Given the description of an element on the screen output the (x, y) to click on. 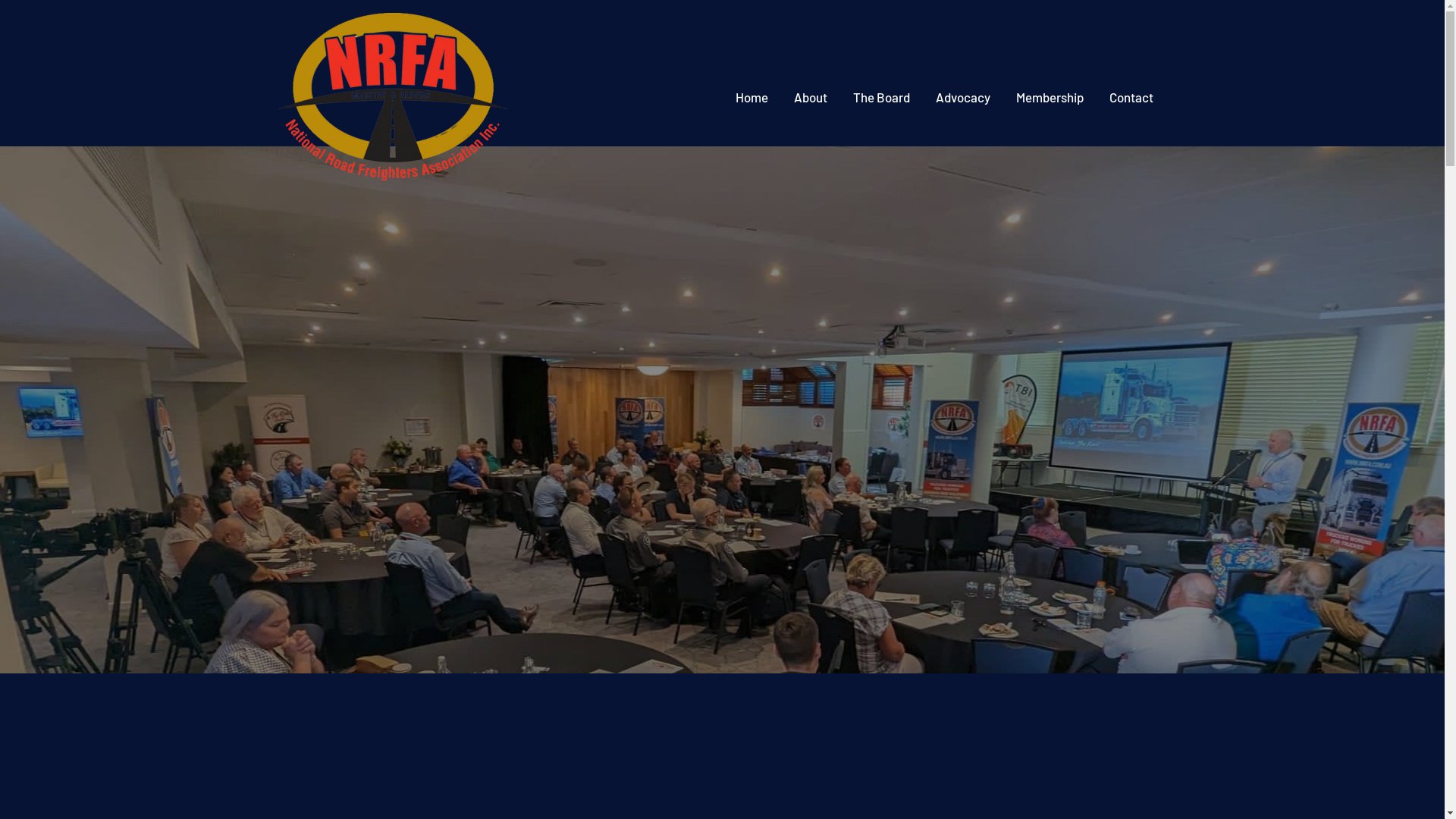
Advocacy Element type: text (962, 96)
Contact Element type: text (1131, 96)
The Board Element type: text (881, 96)
Home Element type: text (750, 96)
Membership Element type: text (1048, 96)
About Element type: text (810, 96)
